Given the description of an element on the screen output the (x, y) to click on. 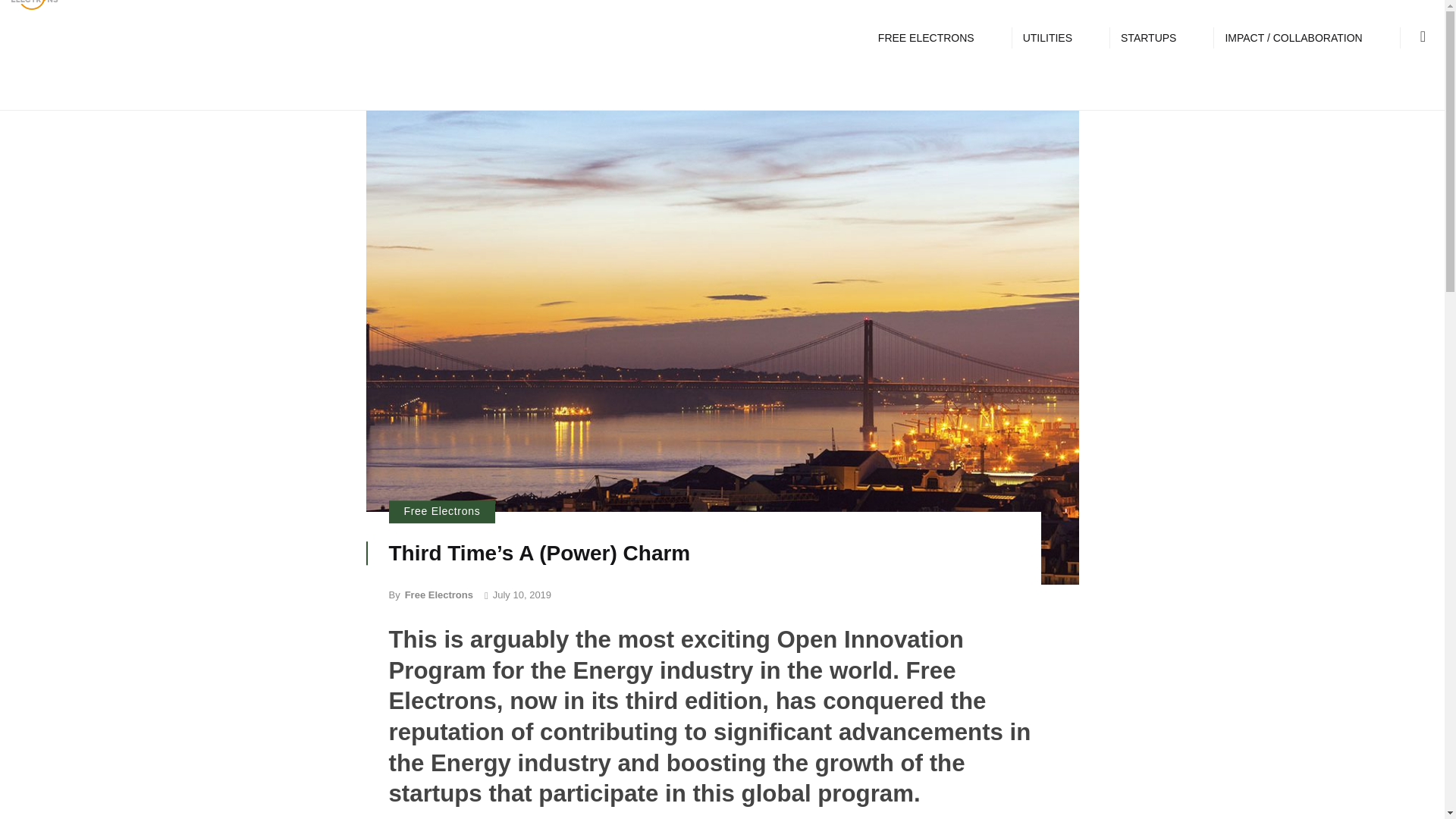
July 10, 2019 at 5:42 am (517, 595)
Free Electrons (438, 595)
Posts by Free Electrons (438, 595)
Free Electrons (441, 512)
UTILITIES (1047, 37)
STARTUPS (1147, 37)
FREE ELECTRONS (926, 37)
